Given the description of an element on the screen output the (x, y) to click on. 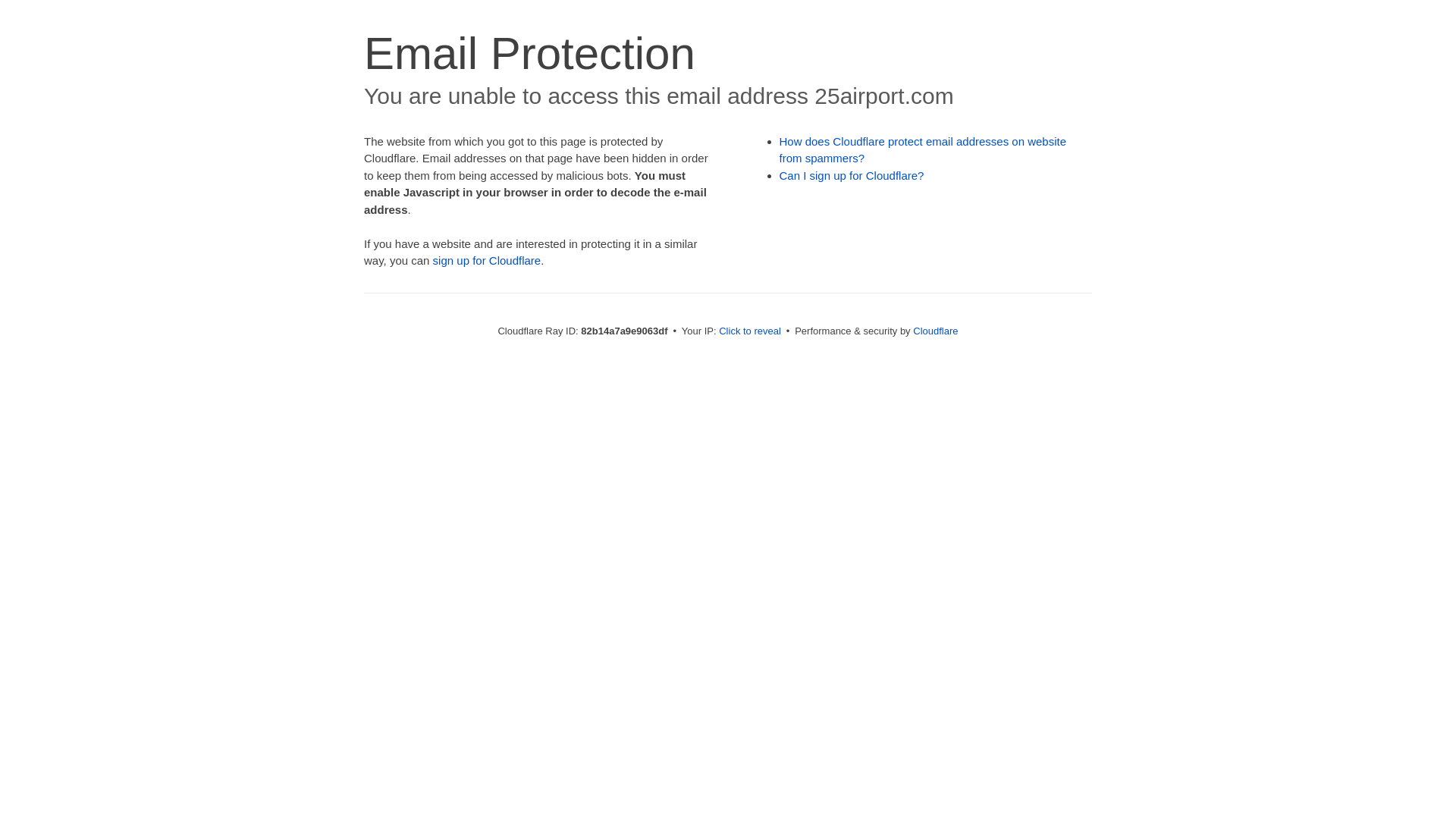
Cloudflare Element type: text (935, 330)
sign up for Cloudflare Element type: text (487, 260)
Click to reveal Element type: text (749, 330)
Can I sign up for Cloudflare? Element type: text (851, 175)
